Given the description of an element on the screen output the (x, y) to click on. 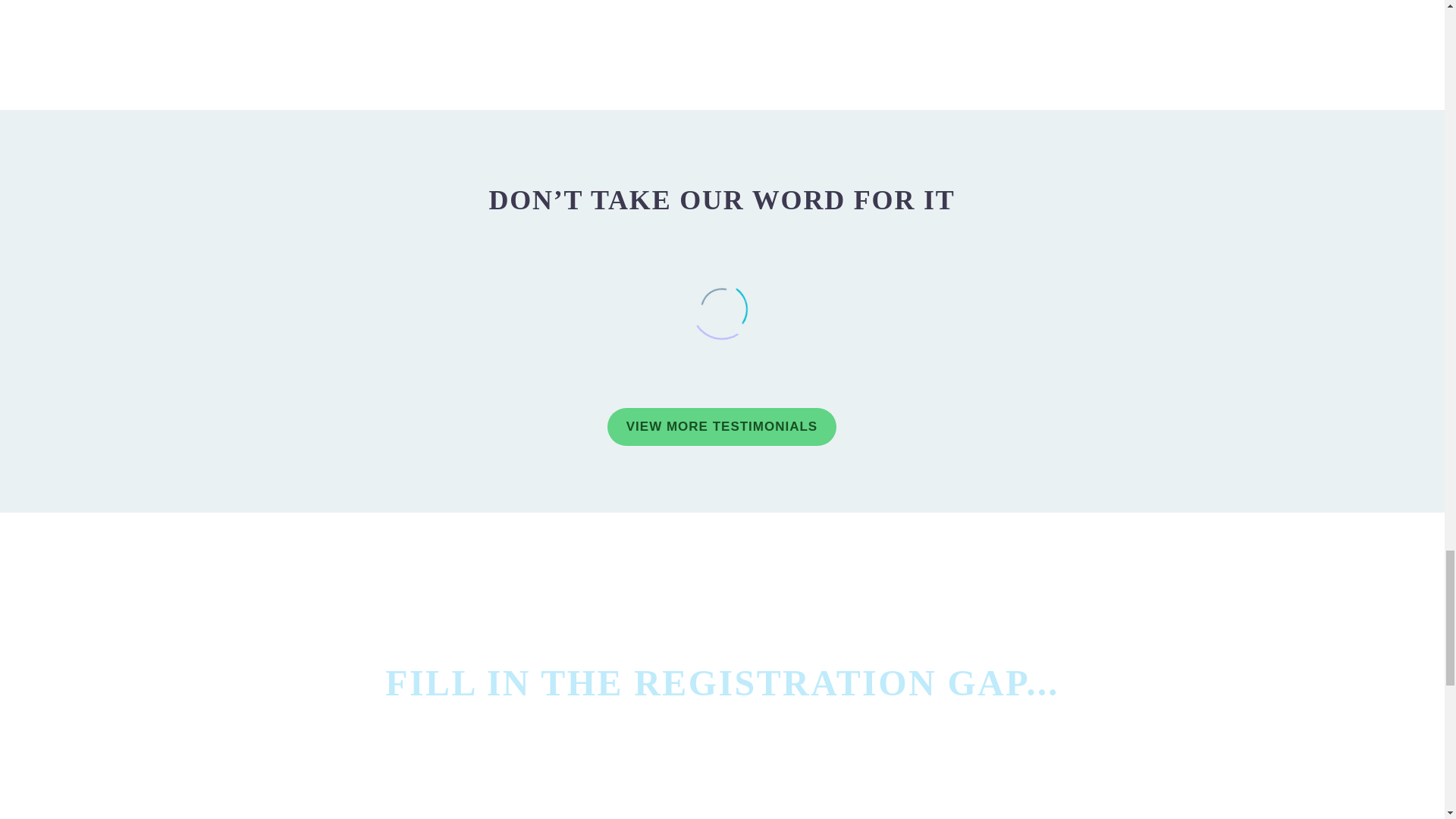
VIEW MORE TESTIMONIALS (721, 426)
weve-gone-global-map-and-markers (875, 19)
